Given the description of an element on the screen output the (x, y) to click on. 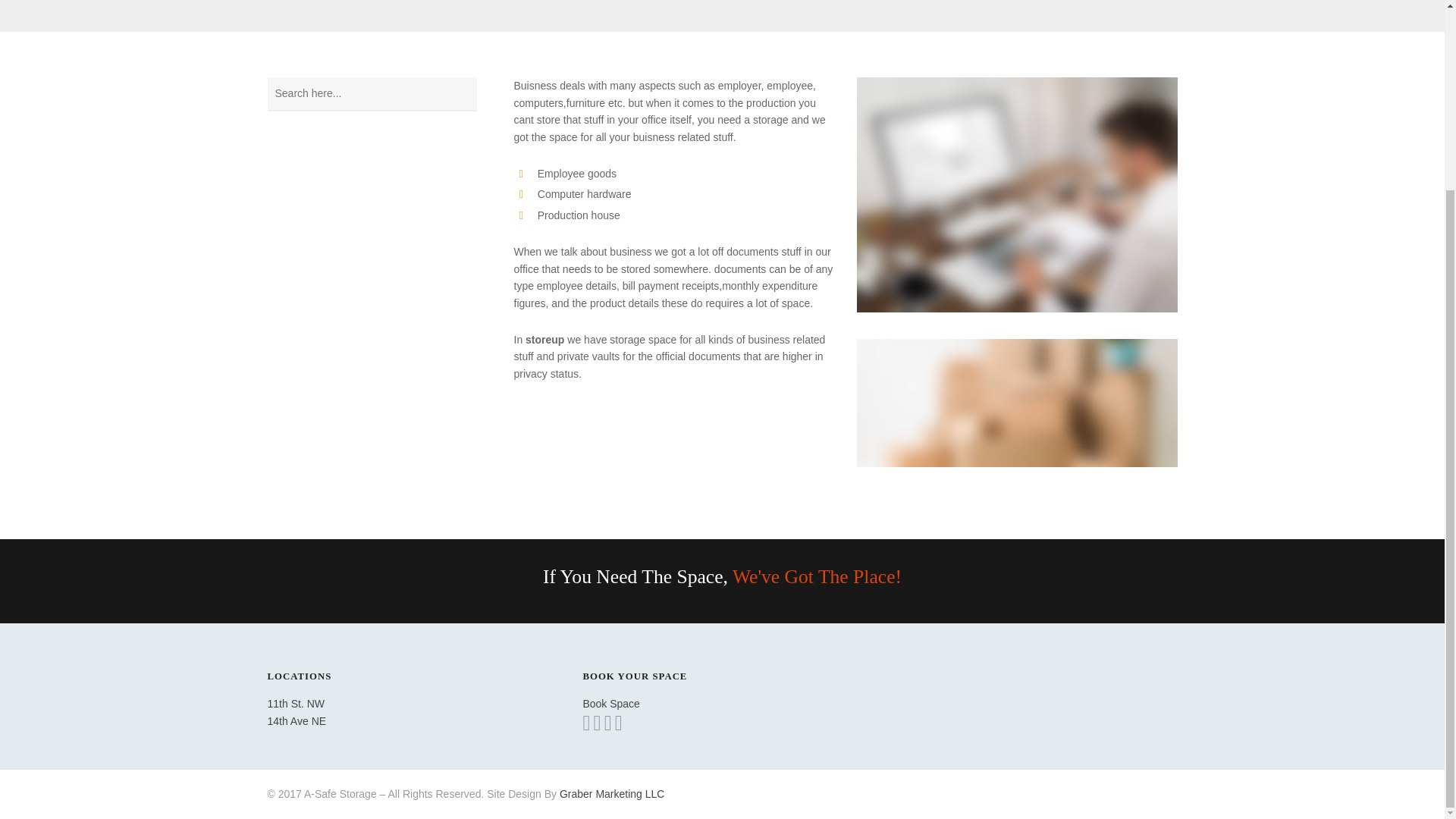
Book Space (611, 714)
monthly-rental (1017, 194)
11th St. NW (294, 703)
14th Ave NE (296, 720)
boxes (1017, 402)
Graber Marketing LLC (612, 793)
